Given the description of an element on the screen output the (x, y) to click on. 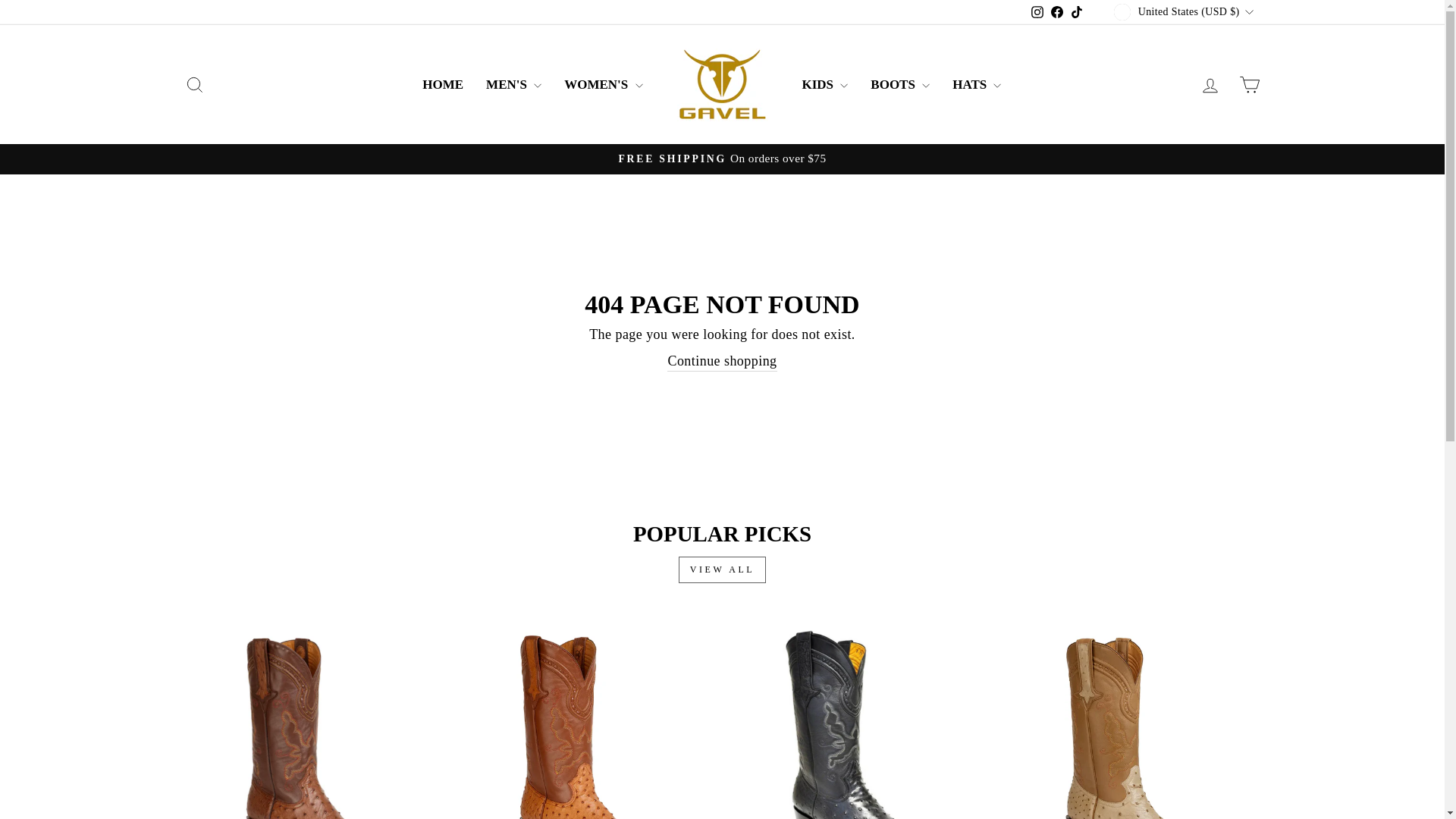
ACCOUNT (1210, 85)
instagram (1036, 11)
ICON-SEARCH (194, 84)
